Given the description of an element on the screen output the (x, y) to click on. 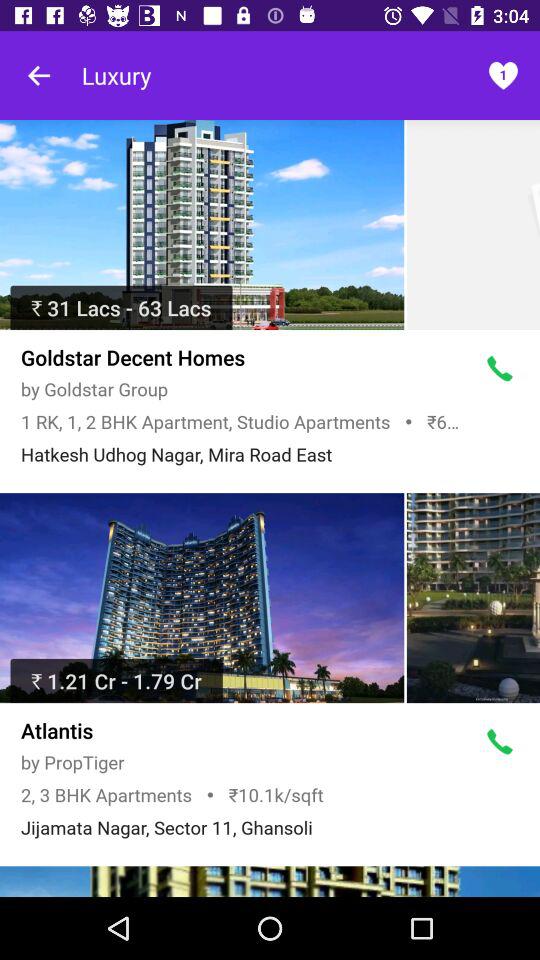
call hotel (500, 742)
